Given the description of an element on the screen output the (x, y) to click on. 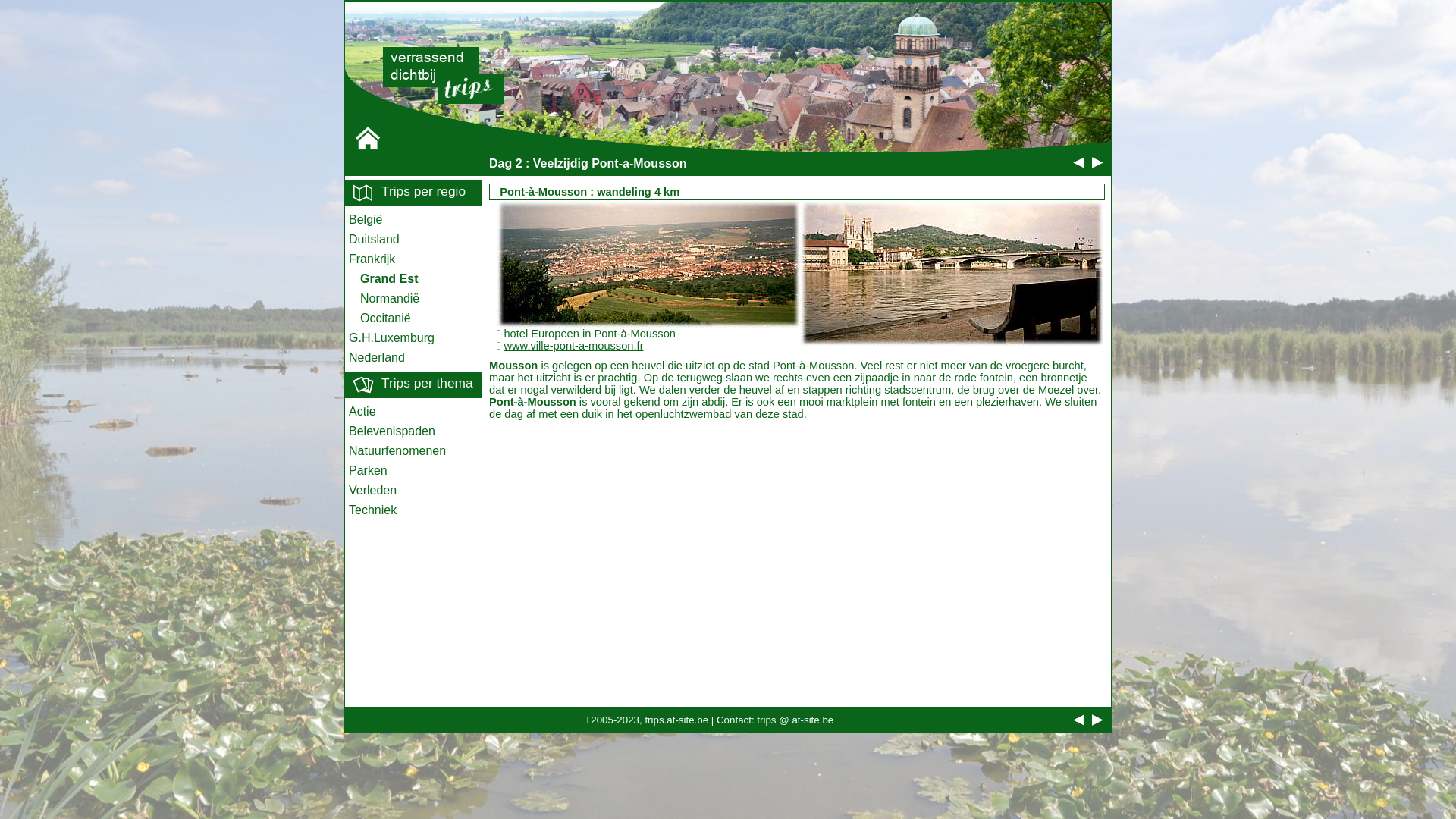
Belevenispaden Element type: text (413, 431)
Actie Element type: text (413, 411)
Natuurfenomenen Element type: text (413, 451)
Duitsland Element type: text (413, 239)
Grand Est Element type: text (413, 278)
G.H.Luxemburg Element type: text (413, 338)
vorige dag Element type: hover (1082, 162)
Home Element type: hover (367, 137)
Frankrijk Element type: text (413, 259)
www.ville-pont-a-mousson.fr Element type: text (573, 345)
Nederland Element type: text (413, 357)
vorige dag Element type: hover (1082, 719)
Techniek Element type: text (413, 510)
volgende dag Element type: hover (1101, 719)
volgende dag Element type: hover (1101, 162)
Verleden Element type: text (413, 490)
Parken Element type: text (413, 470)
